Given the description of an element on the screen output the (x, y) to click on. 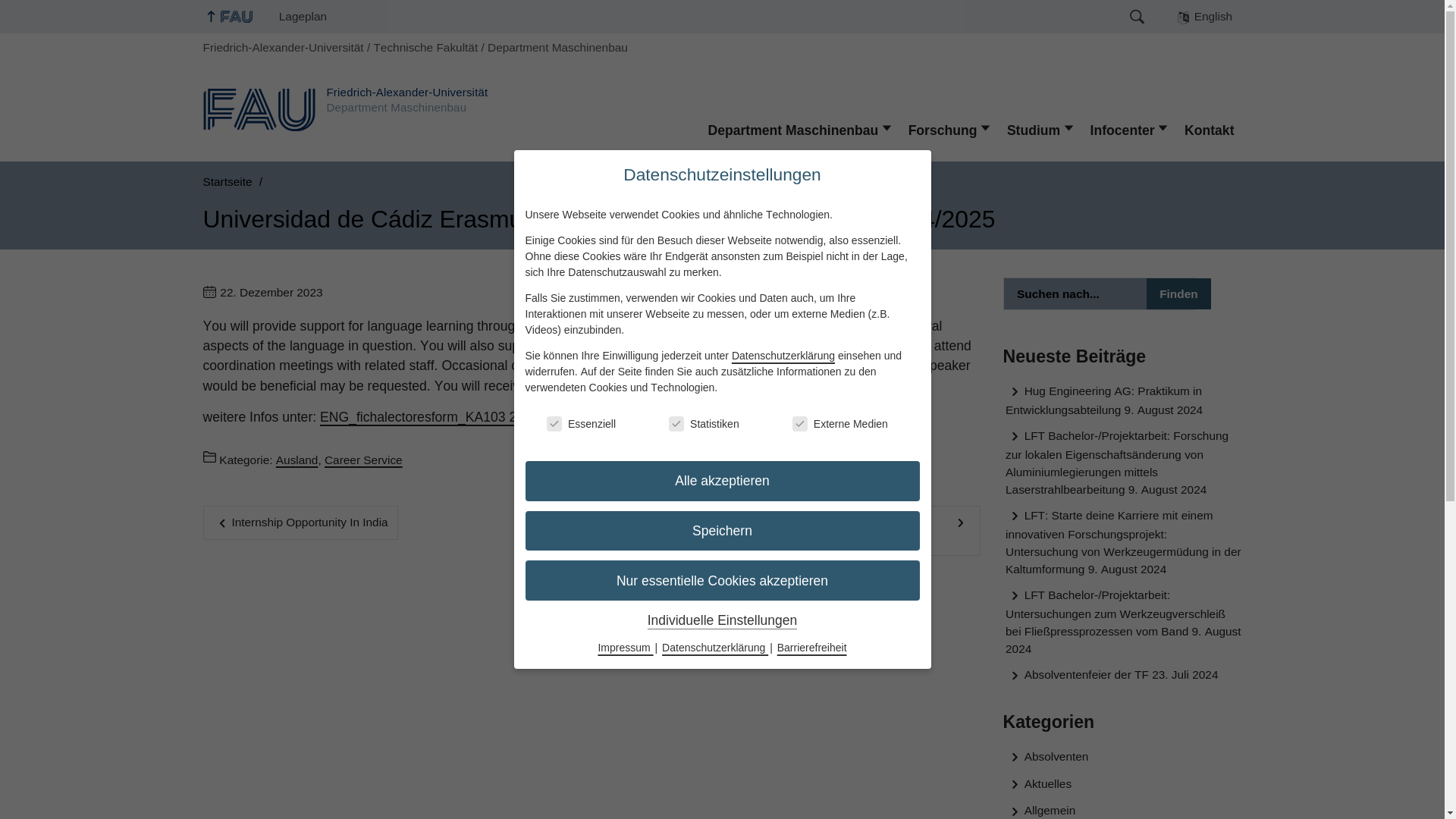
Lageplan (302, 16)
Department Maschinenbau (557, 47)
Finden (1179, 293)
Studium (1040, 130)
English (1204, 16)
Department Maschinenbau (799, 130)
Forschung (949, 130)
